Given the description of an element on the screen output the (x, y) to click on. 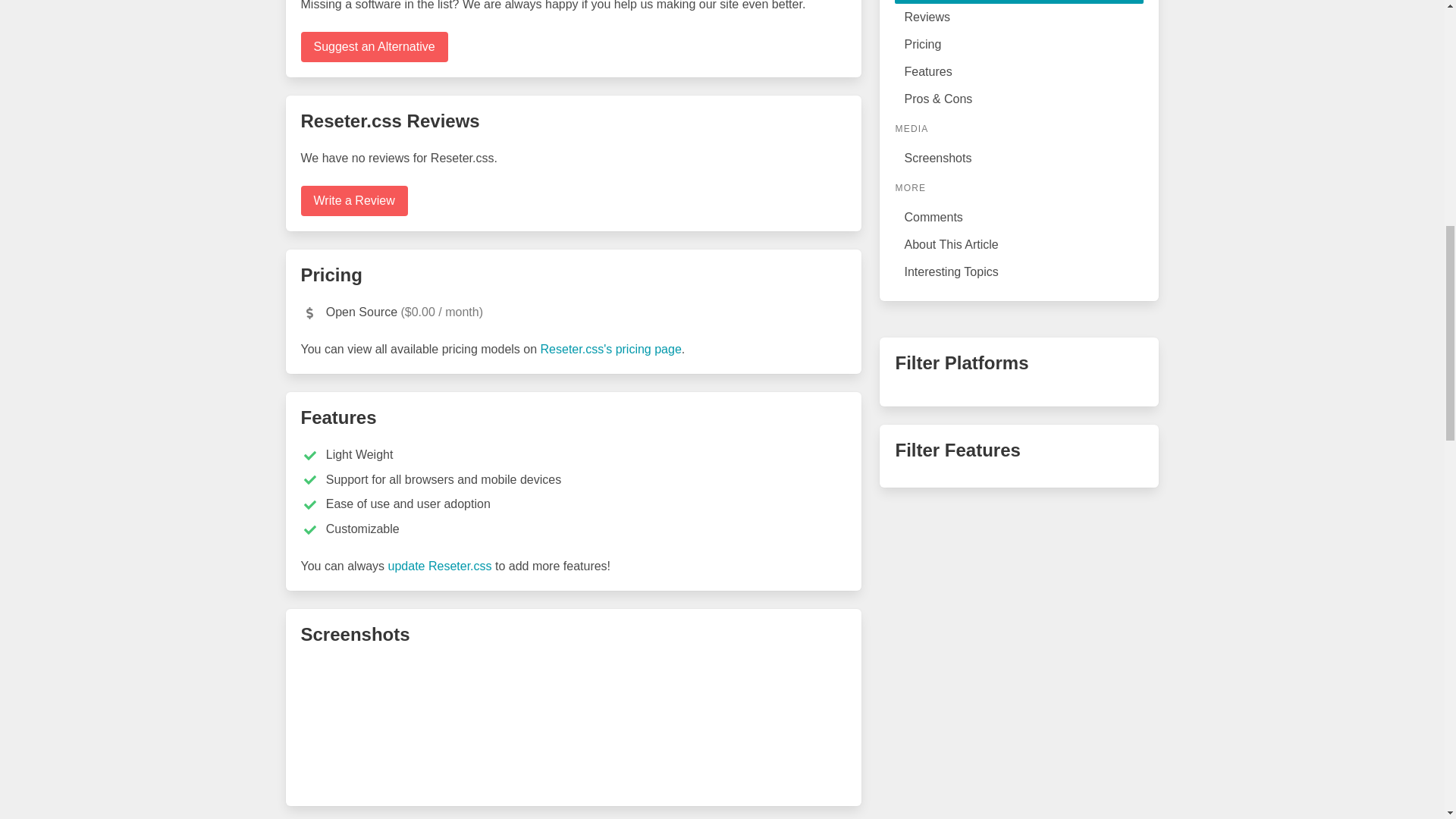
Reseter.css's pricing page (610, 349)
Alternatives (1018, 1)
Reviews (1018, 16)
